Given the description of an element on the screen output the (x, y) to click on. 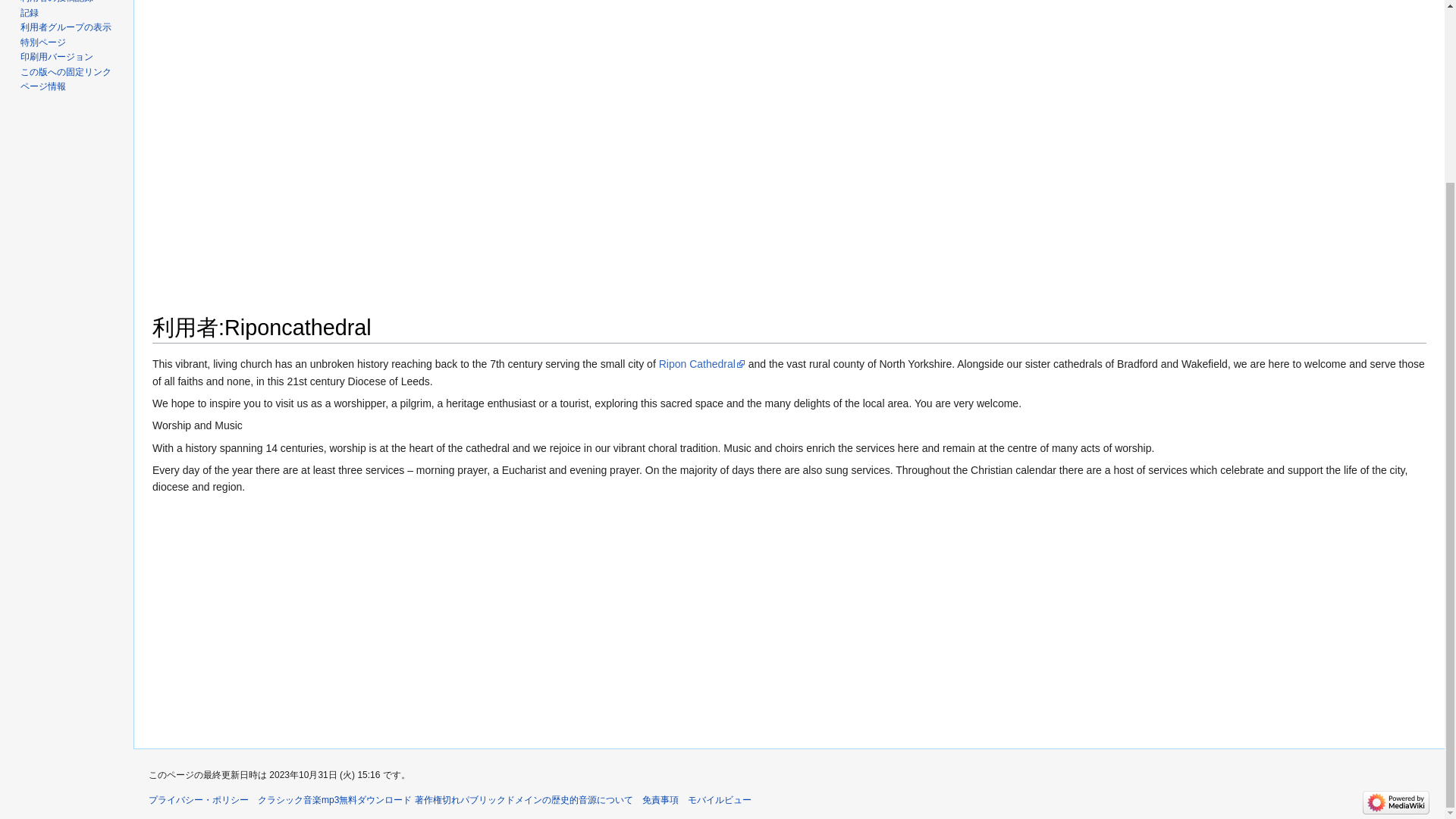
Ripon Cathedral (702, 363)
